Given the description of an element on the screen output the (x, y) to click on. 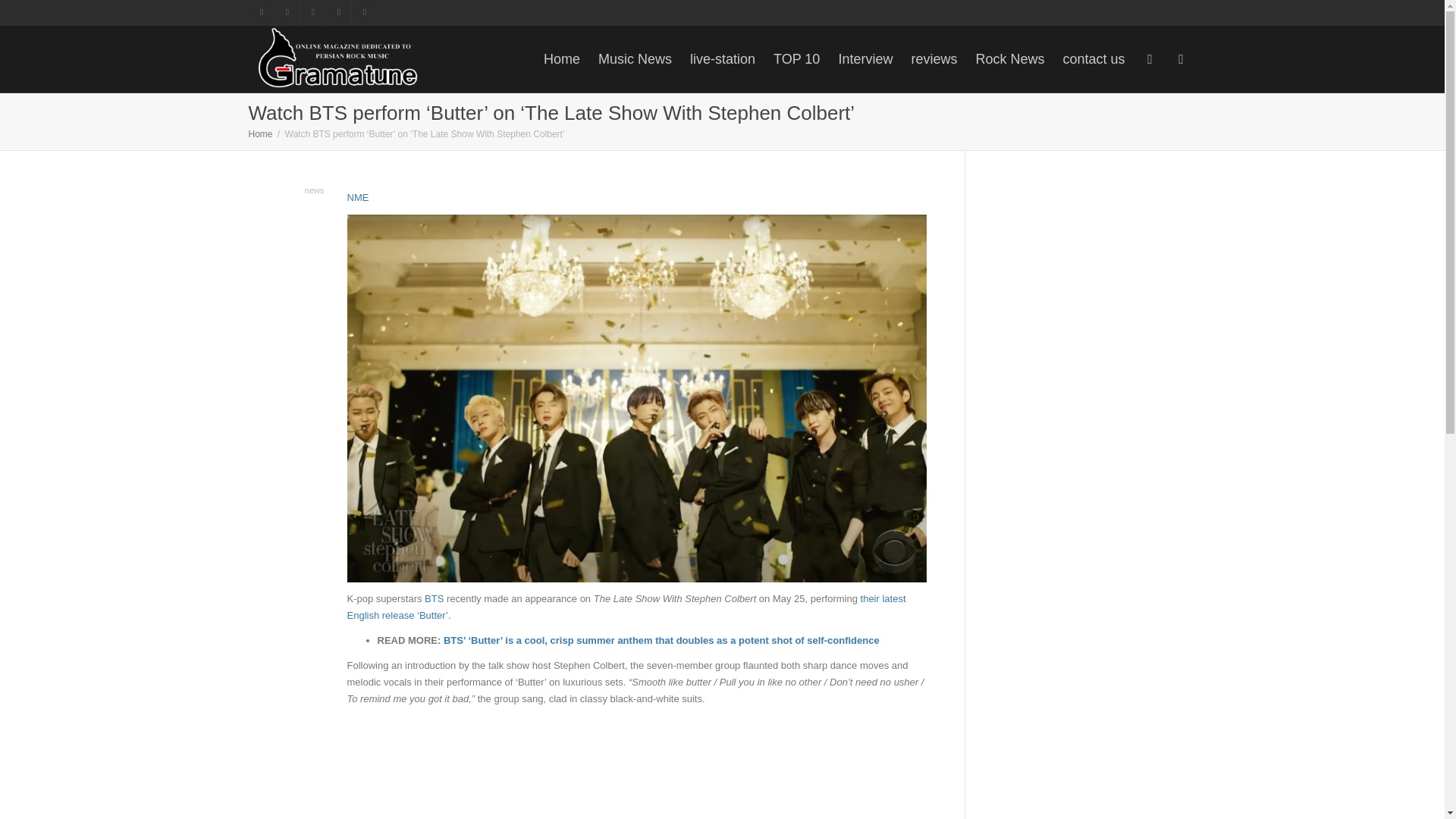
Rock News (1009, 58)
news (314, 189)
BTS "Butter" - The Late Show with Stephen Colbert (611, 767)
NME (358, 197)
contact us (1093, 58)
Home (260, 133)
contact us (1093, 58)
Music News (634, 58)
live-station (722, 58)
live-station (722, 58)
